Given the description of an element on the screen output the (x, y) to click on. 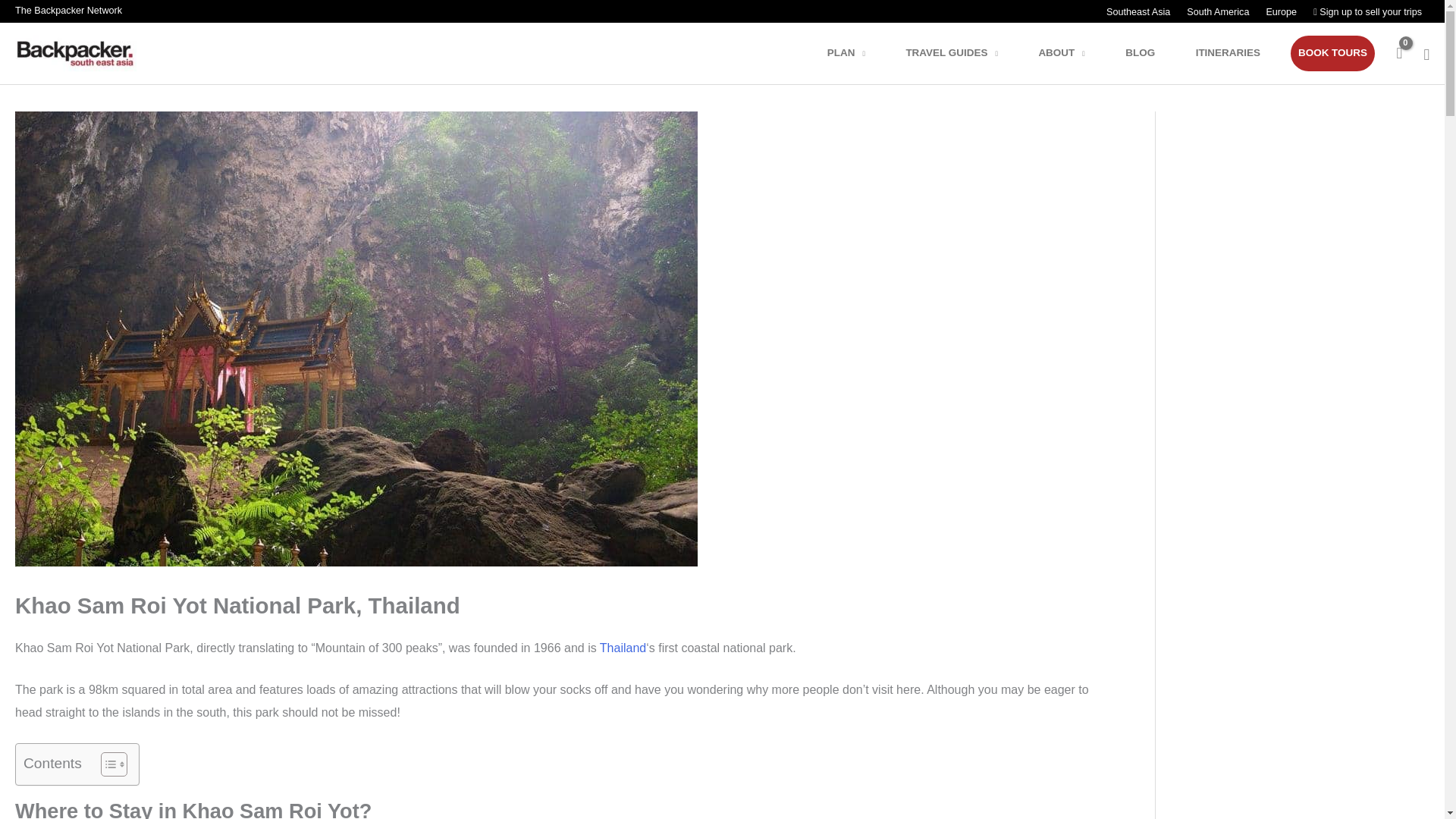
PLAN (855, 53)
ABOUT (1071, 53)
BLOG (1150, 53)
Europe (1280, 12)
Southeast Asia (1137, 12)
South America (1216, 12)
BOOK TOURS (1332, 53)
TRAVEL GUIDES (961, 53)
ITINERARIES (1237, 53)
